Given the description of an element on the screen output the (x, y) to click on. 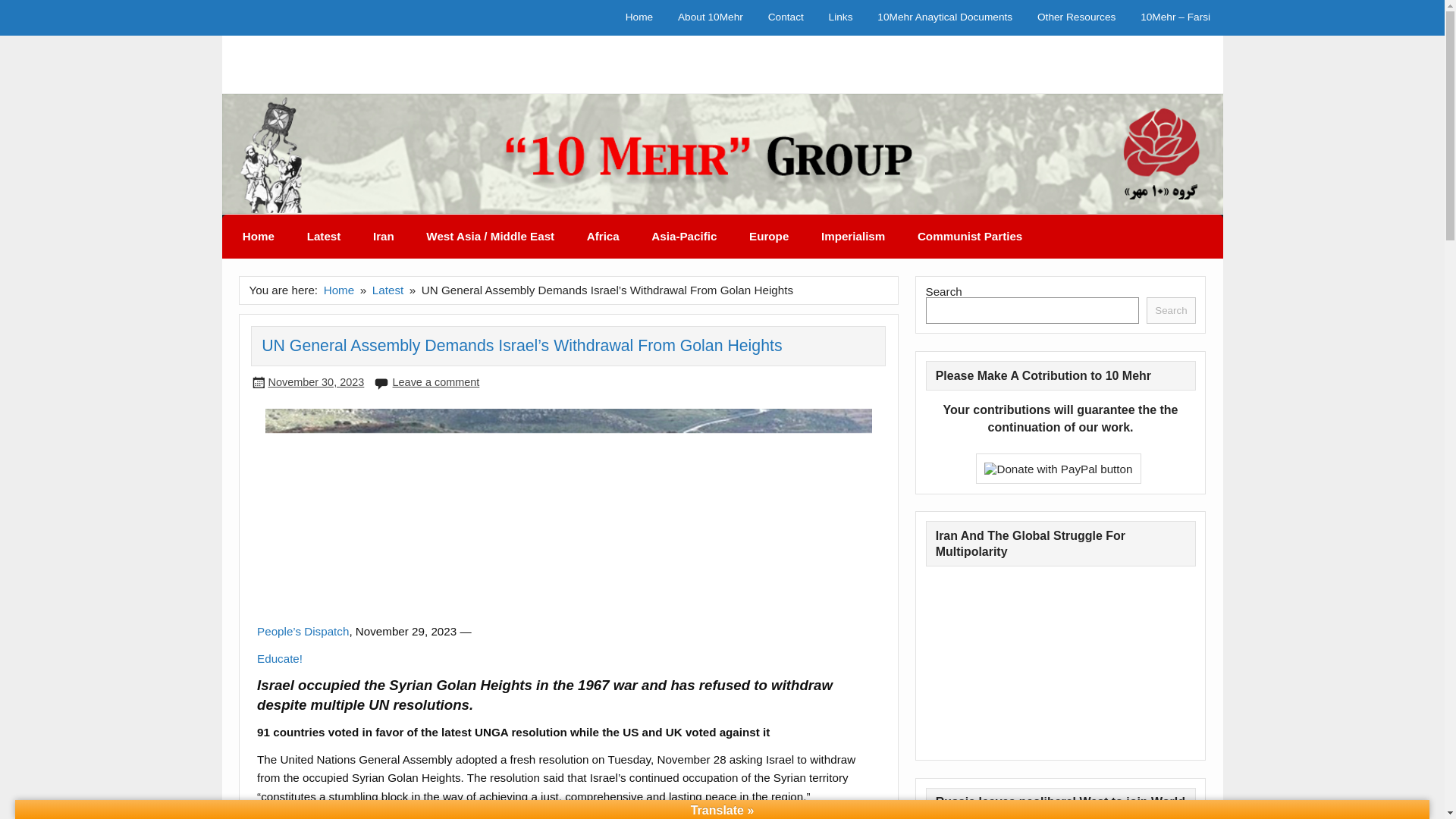
Imperialism (853, 236)
8:00 am (315, 381)
Latest (387, 289)
November 30, 2023 (315, 381)
Africa (602, 236)
Educate! (279, 658)
Links (839, 18)
Other Resources (1076, 18)
Search (1171, 310)
Home (339, 289)
